Given the description of an element on the screen output the (x, y) to click on. 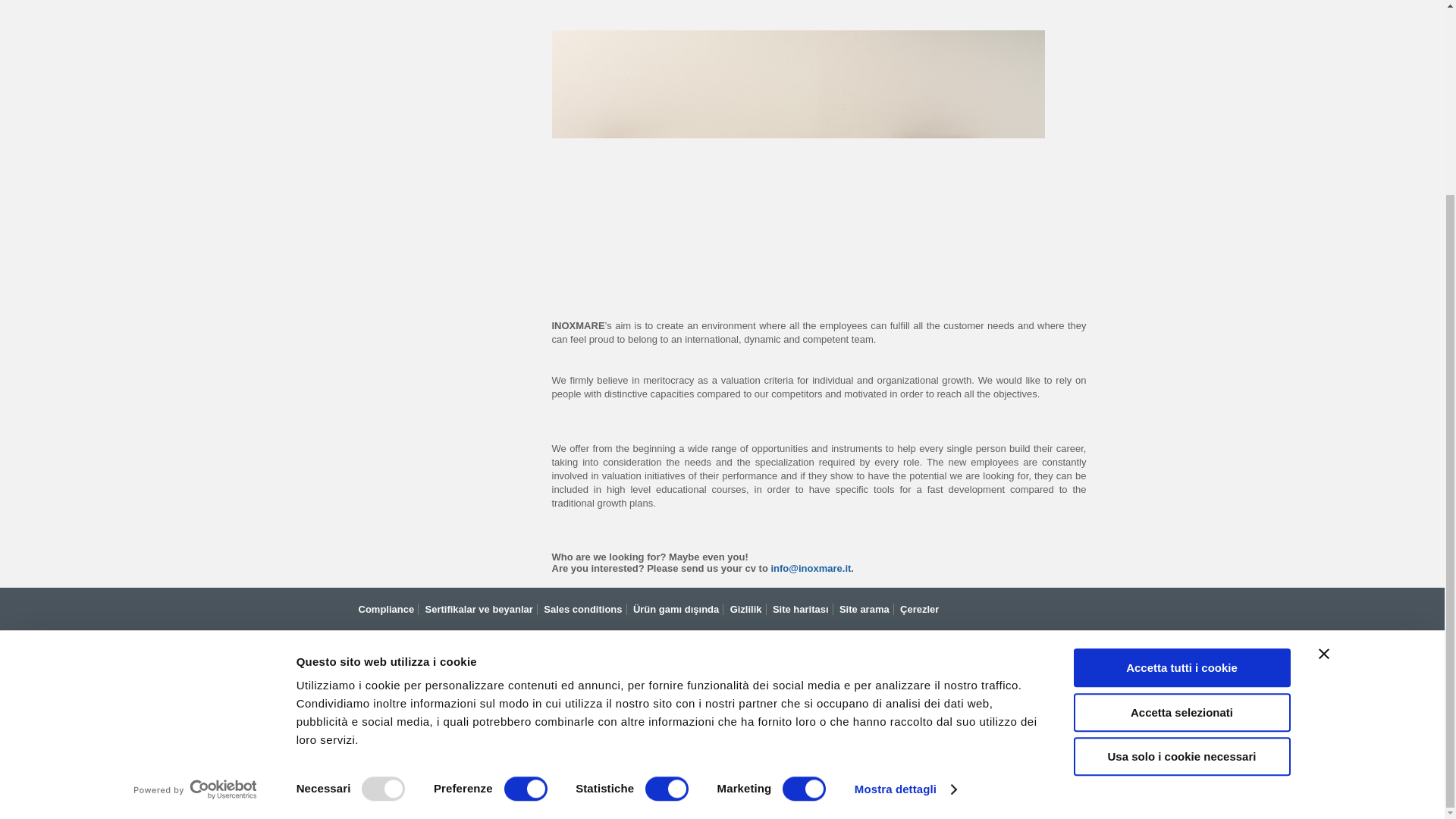
Mostra dettagli (905, 543)
